Given the description of an element on the screen output the (x, y) to click on. 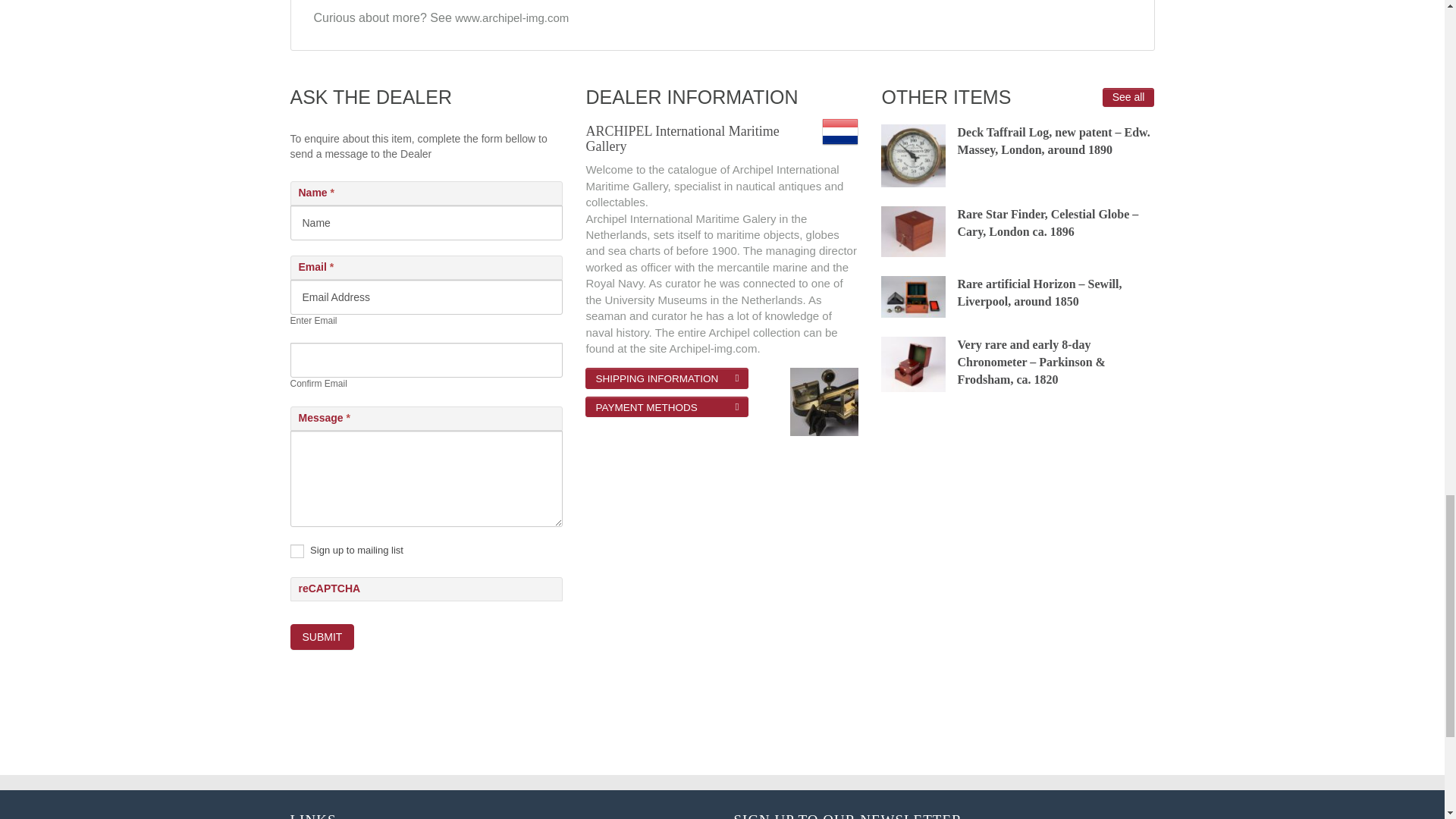
Submit (321, 637)
Name (425, 222)
Sign up to mailing list (295, 550)
Email Address (425, 297)
